Given the description of an element on the screen output the (x, y) to click on. 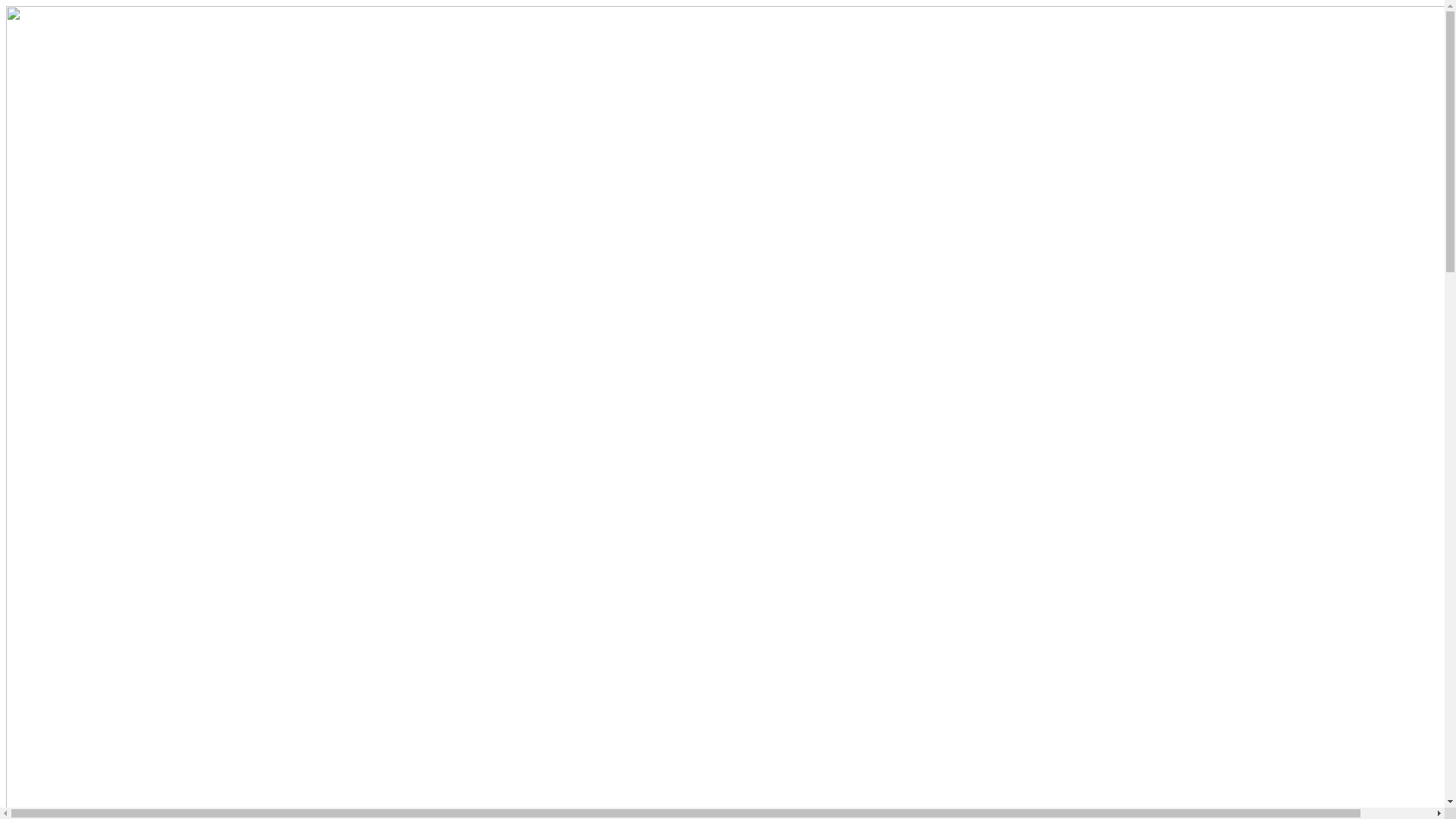
Skip to content Element type: text (5, 5)
